Given the description of an element on the screen output the (x, y) to click on. 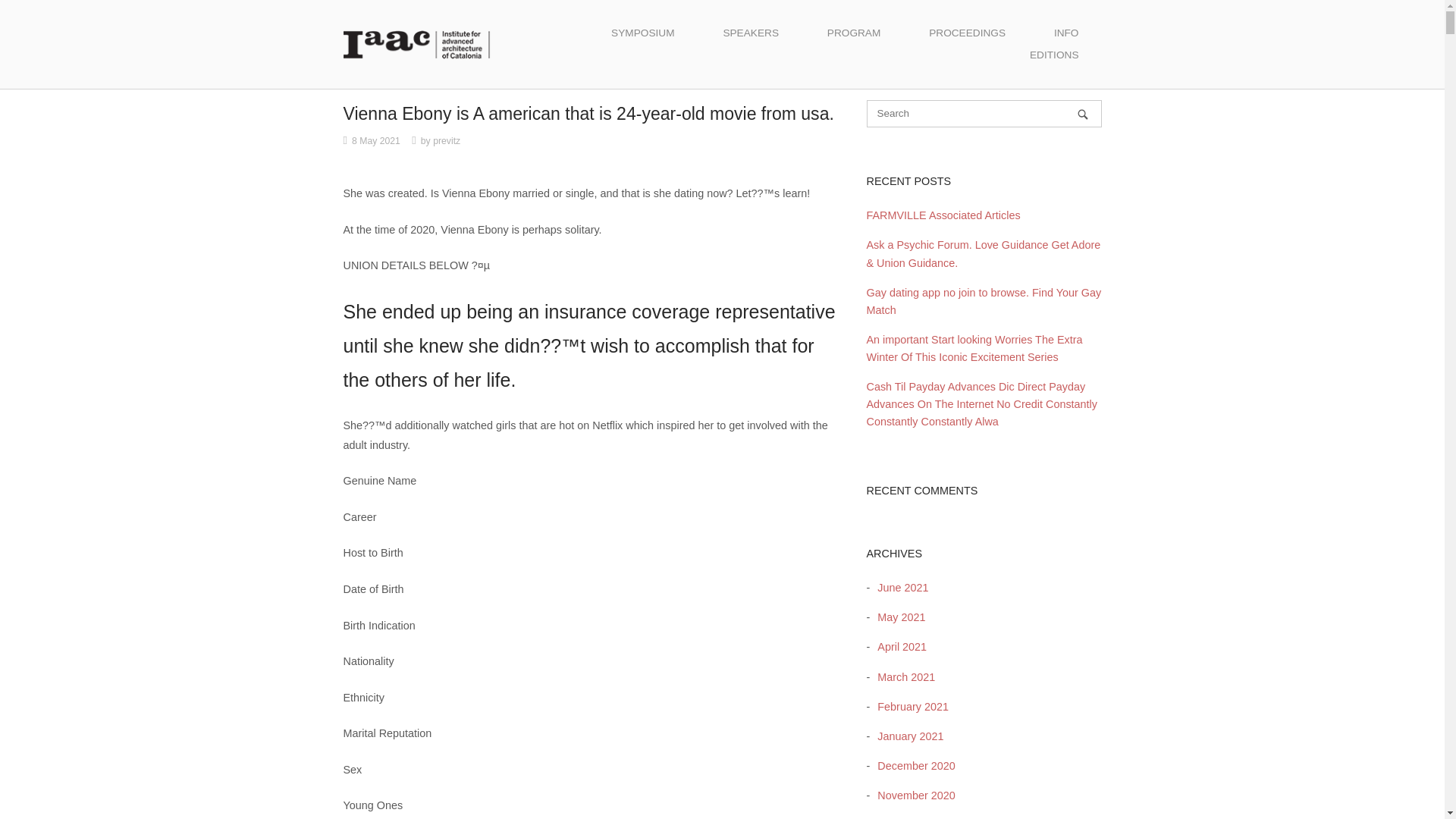
May 2021 (896, 616)
PROGRAM (854, 33)
Gay dating app no join to browse. Find Your Gay Match (983, 301)
Home (415, 43)
8 May 2021 (376, 140)
April 2021 (897, 646)
INFO (1066, 33)
SYMPOSIUM (642, 33)
January 2021 (906, 736)
SPEAKERS (751, 33)
June 2021 (898, 587)
FARMVILLE Associated Articles (943, 215)
February 2021 (909, 706)
